Given the description of an element on the screen output the (x, y) to click on. 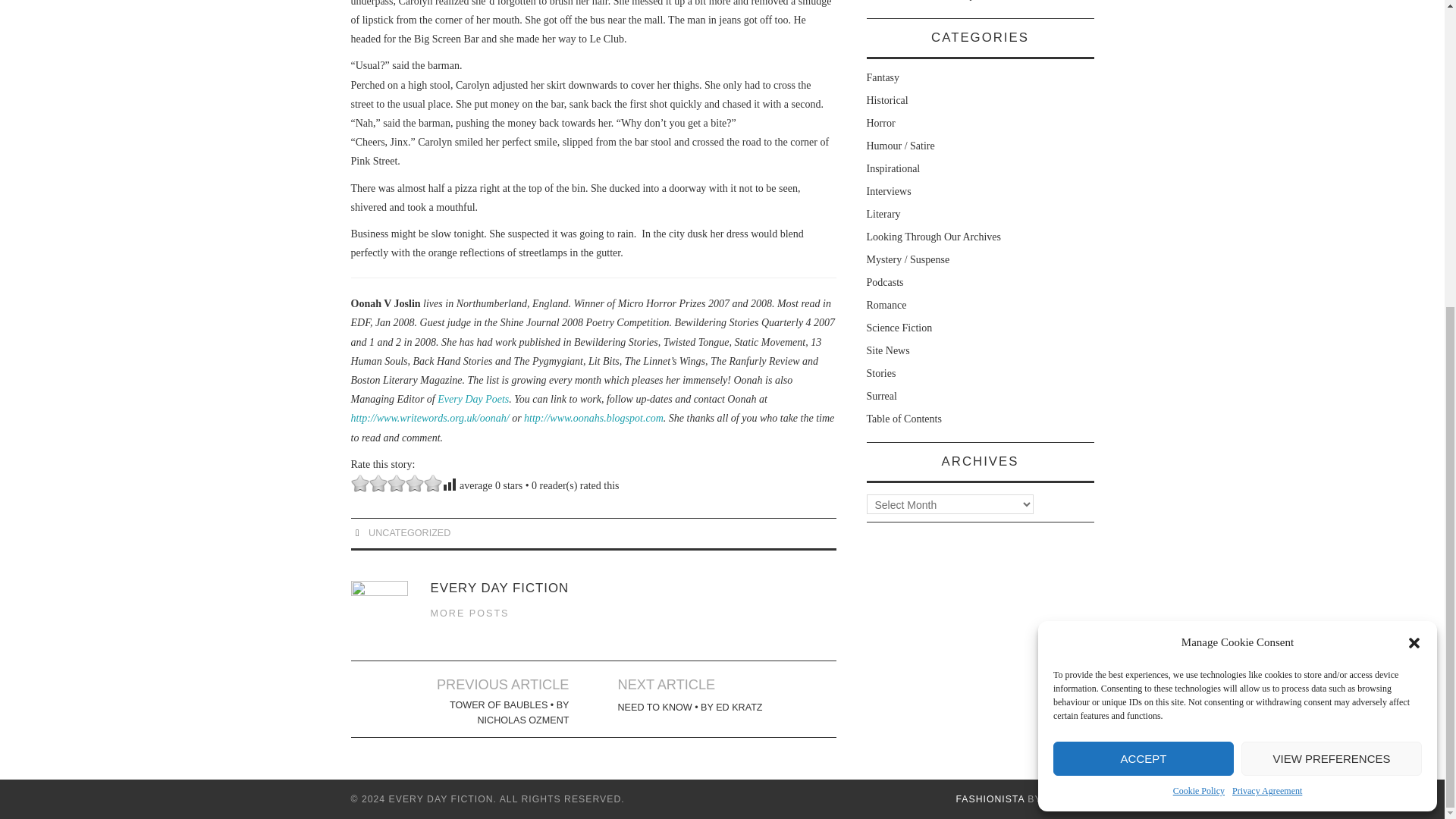
MORE POSTS (469, 613)
VIEW PREFERENCES (1331, 274)
Privacy Agreement (1266, 307)
Every Day Poets (473, 398)
Cookie Policy (1198, 307)
ACCEPT (1142, 274)
